Given the description of an element on the screen output the (x, y) to click on. 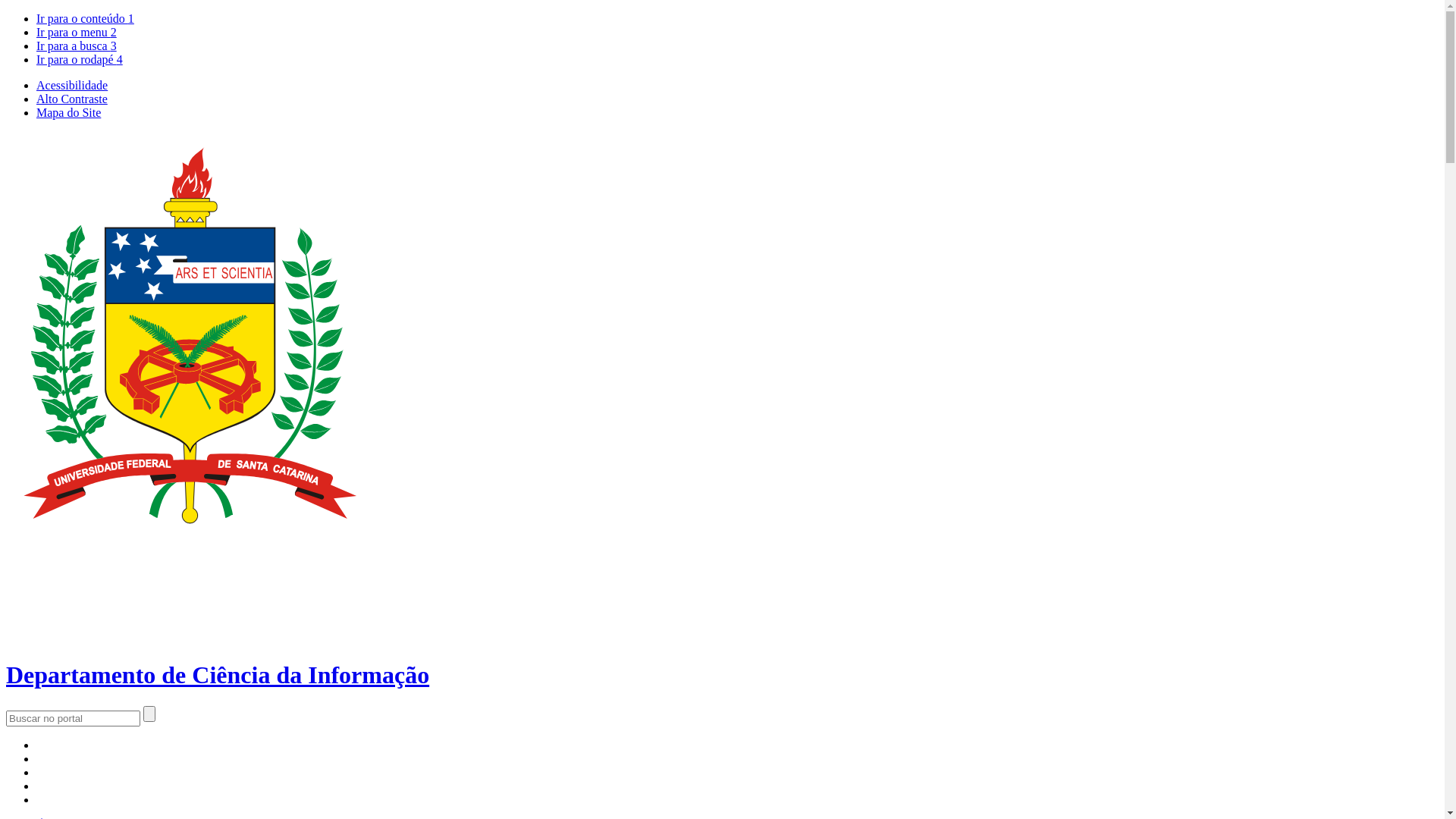
Acessibilidade Element type: text (71, 84)
Alto Contraste Element type: text (71, 98)
Ir para o menu 2 Element type: text (76, 31)
Mapa do Site Element type: text (68, 112)
Ir para a busca 3 Element type: text (76, 45)
